Given the description of an element on the screen output the (x, y) to click on. 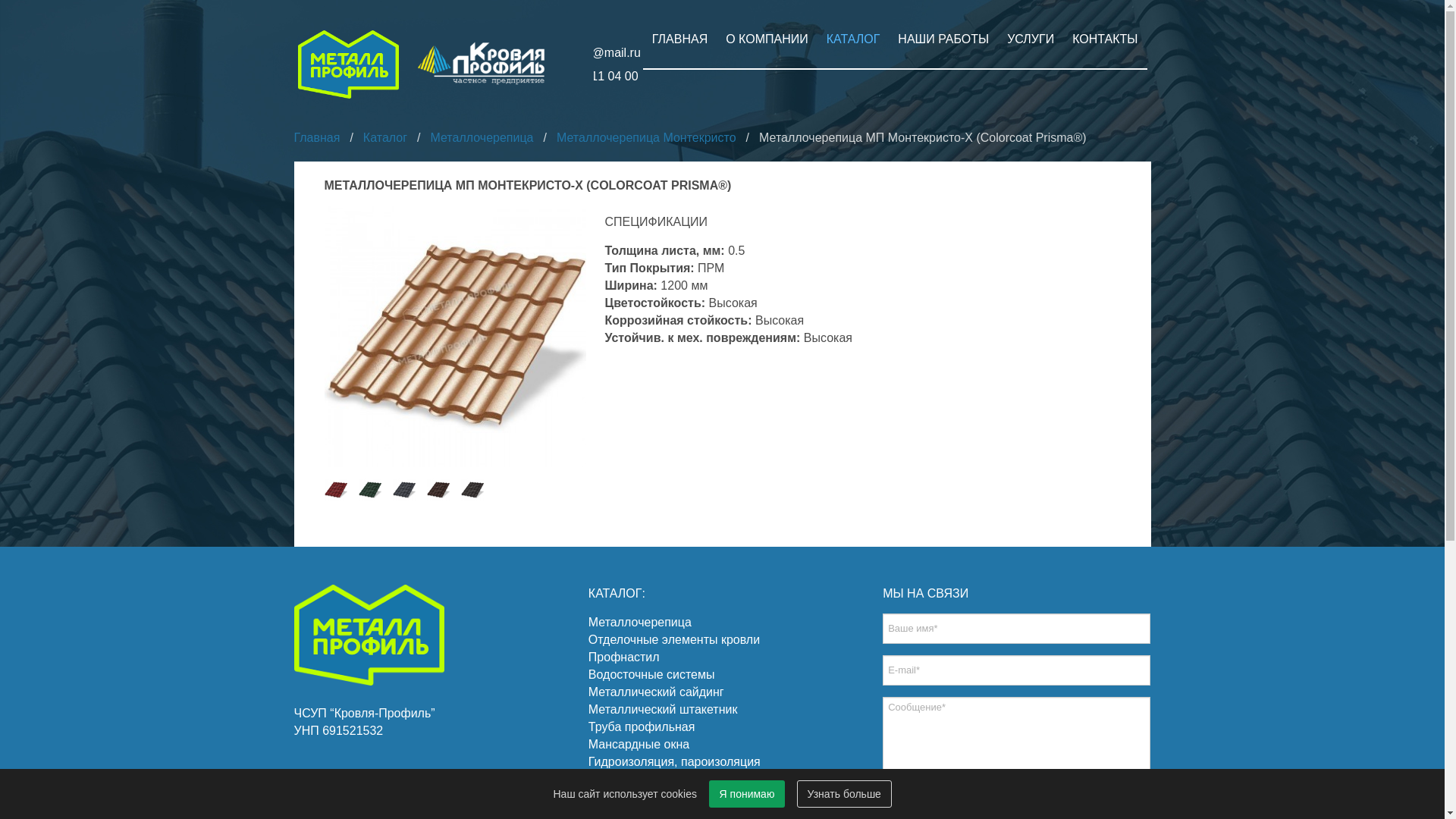
Montecristo 8017 Element type: hover (437, 489)
Montecristo 3011 Element type: hover (335, 489)
Montecristo RR32 Element type: hover (472, 489)
  arkasklad@mail.ru Element type: text (574, 52)
Drw0001ADA Helios Element type: hover (455, 336)
Montecristo 6005 Element type: hover (368, 489)
 +375 44 711 04 00 Element type: text (572, 75)
Montecristo 7024 Element type: hover (403, 489)
